Given the description of an element on the screen output the (x, y) to click on. 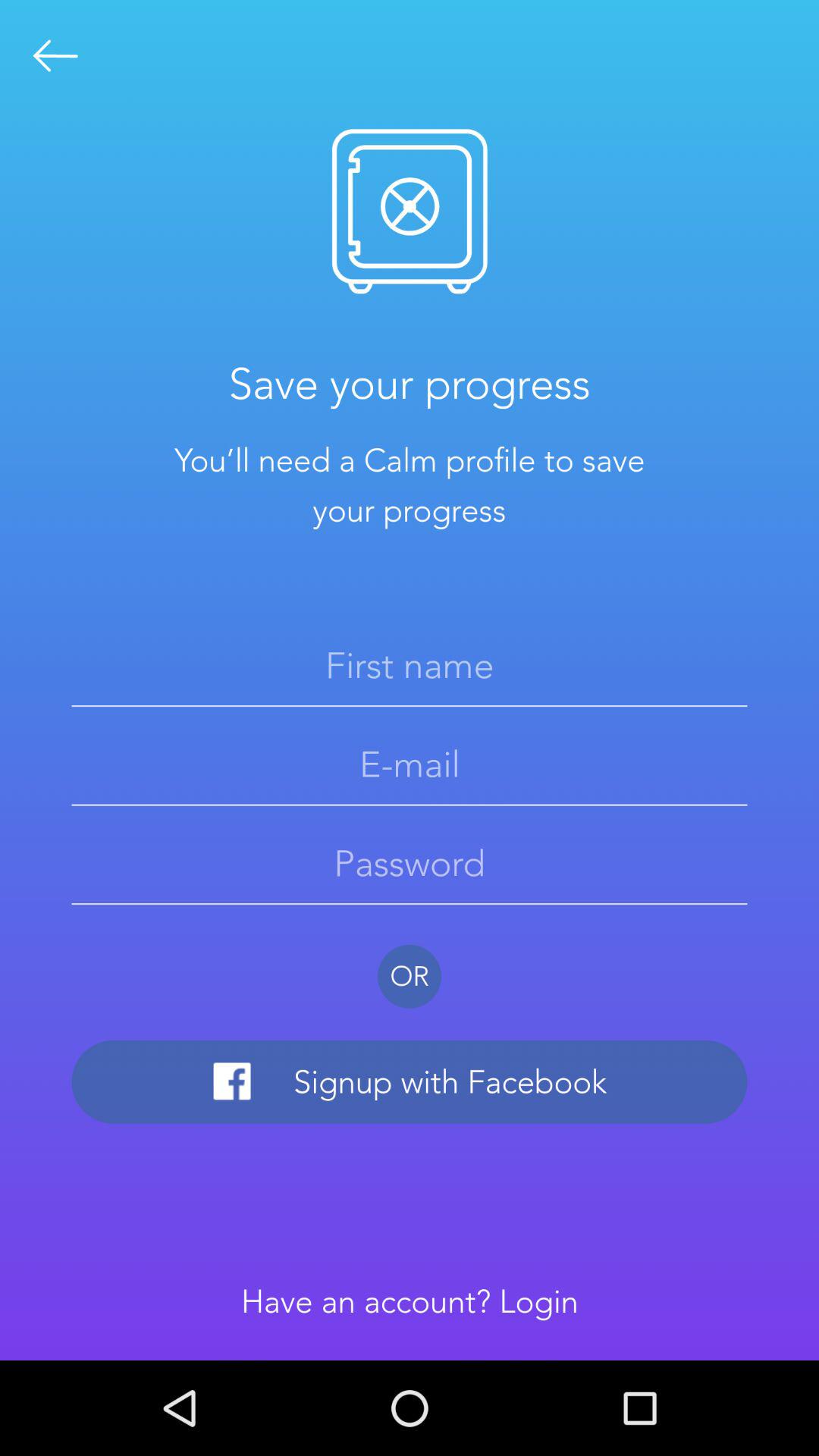
enter your password (409, 862)
